Given the description of an element on the screen output the (x, y) to click on. 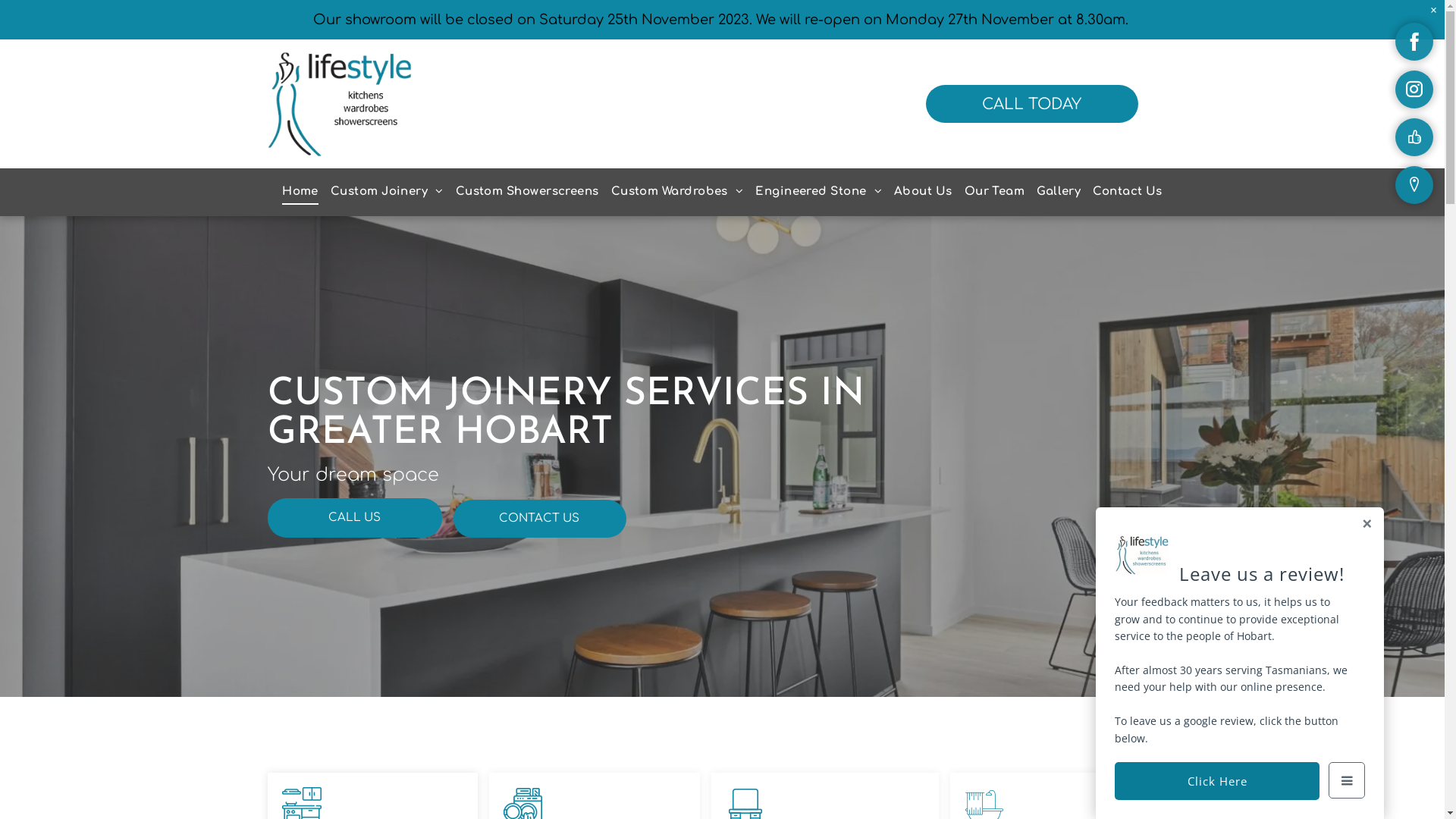
Lifestyle Kitchens, Wardrobes & Showerscreens Element type: hover (338, 103)
Contact Us Element type: text (1127, 191)
CALL TODAY Element type: text (1031, 103)
About Us Element type: text (923, 191)
Custom Joinery Element type: text (386, 191)
Custom Wardrobes Element type: text (677, 191)
Home Element type: text (300, 191)
Click Here Element type: text (1216, 781)
Our Team Element type: text (994, 191)
CONTACT US Element type: text (539, 517)
Gallery Element type: text (1058, 191)
Engineered Stone Element type: text (818, 191)
Custom Showerscreens Element type: text (527, 191)
CALL US Element type: text (353, 516)
